Given the description of an element on the screen output the (x, y) to click on. 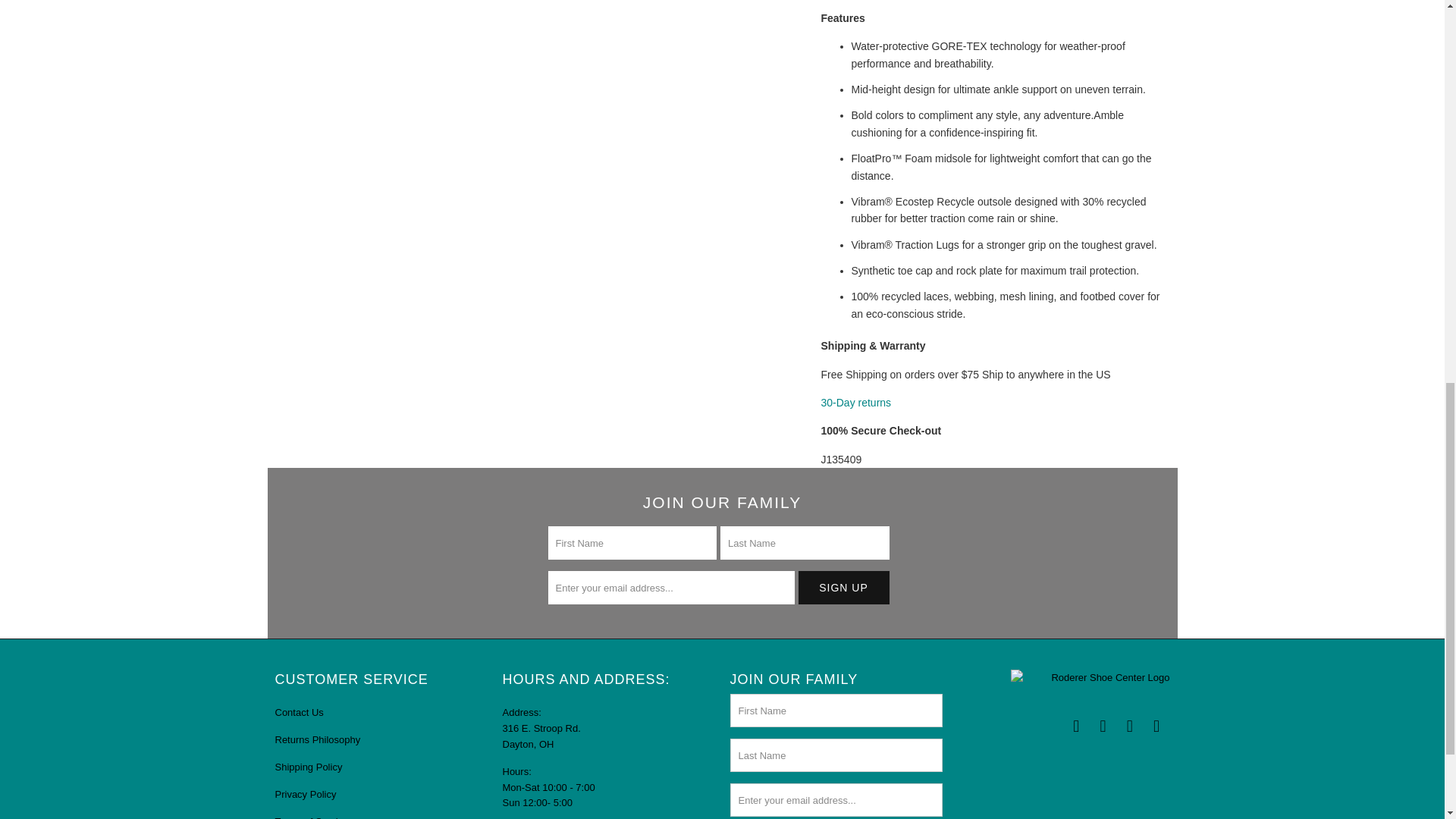
Sign Up (842, 587)
Roderer Shoe Center on Facebook (1076, 726)
